Given the description of an element on the screen output the (x, y) to click on. 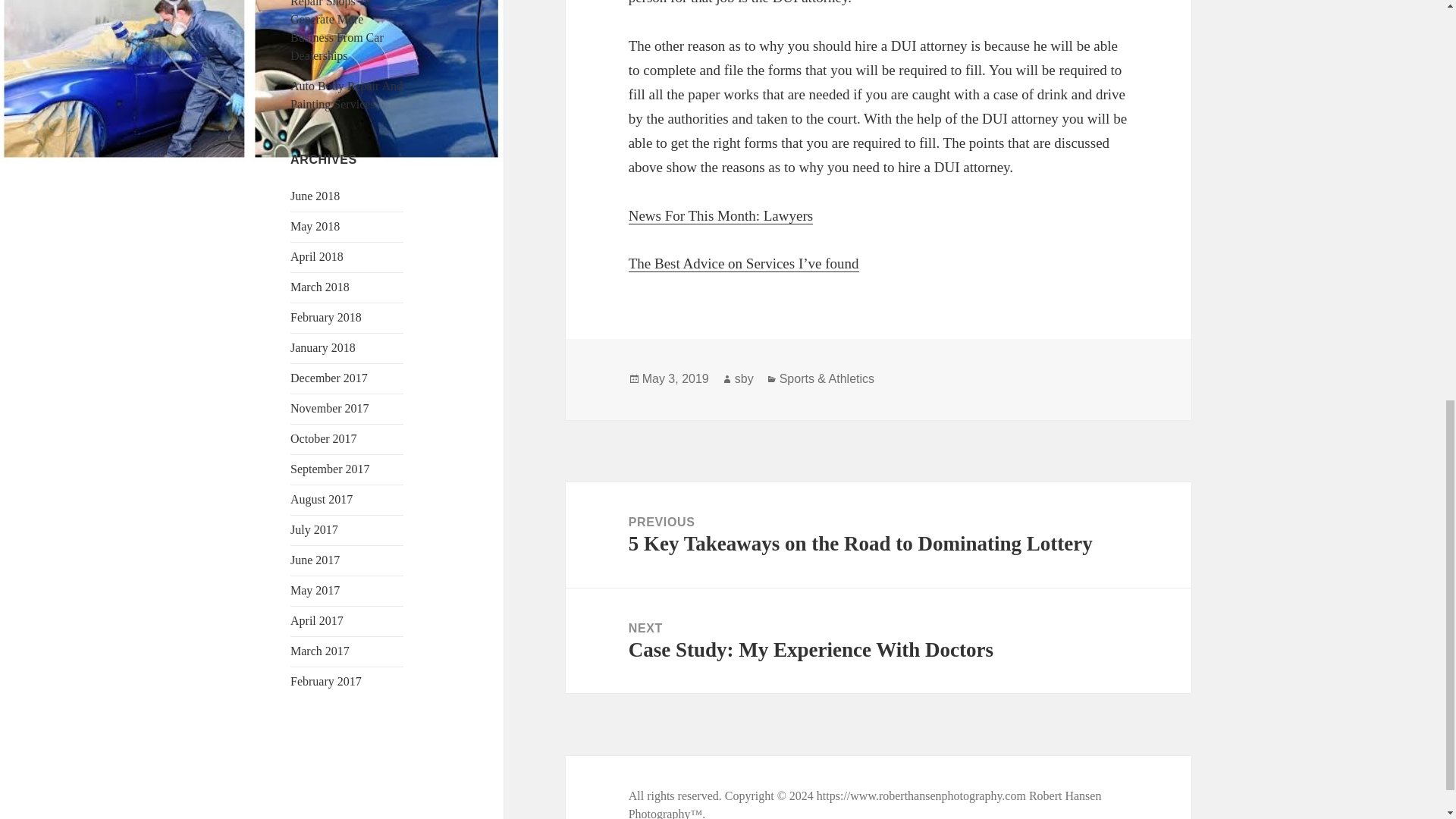
January 2018 (322, 347)
March 2018 (319, 286)
February 2017 (878, 640)
April 2018 (325, 680)
August 2017 (316, 256)
May 3, 2019 (320, 499)
May 2017 (675, 378)
February 2018 (314, 590)
sby (325, 317)
June 2017 (744, 378)
Auto Body Repair And Painting Services (314, 559)
November 2017 (346, 94)
